Given the description of an element on the screen output the (x, y) to click on. 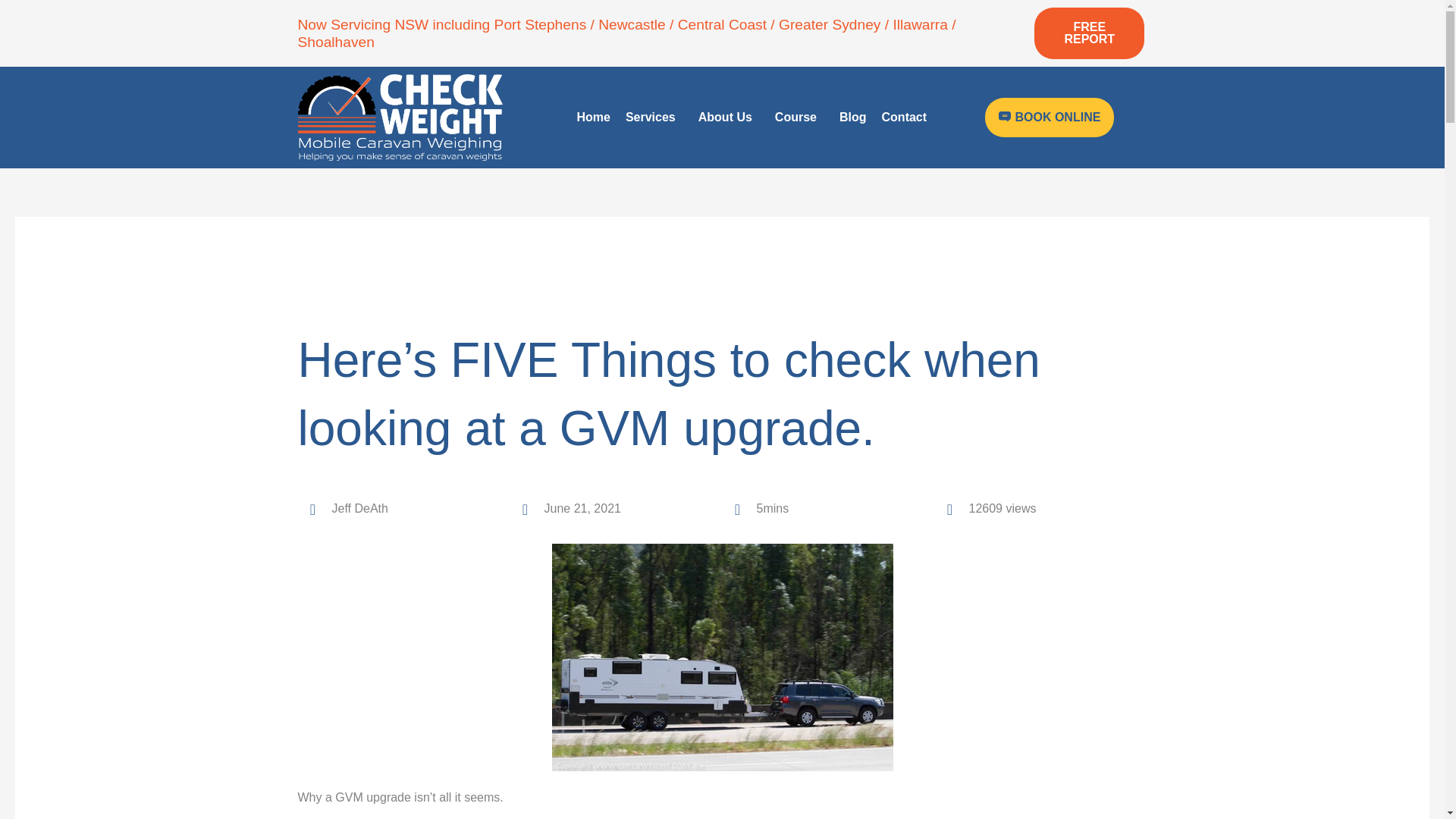
Home (593, 117)
About Us (728, 117)
Blog (853, 117)
Services (653, 117)
Course (799, 117)
Contact (904, 117)
FREE REPORT (1088, 32)
